Given the description of an element on the screen output the (x, y) to click on. 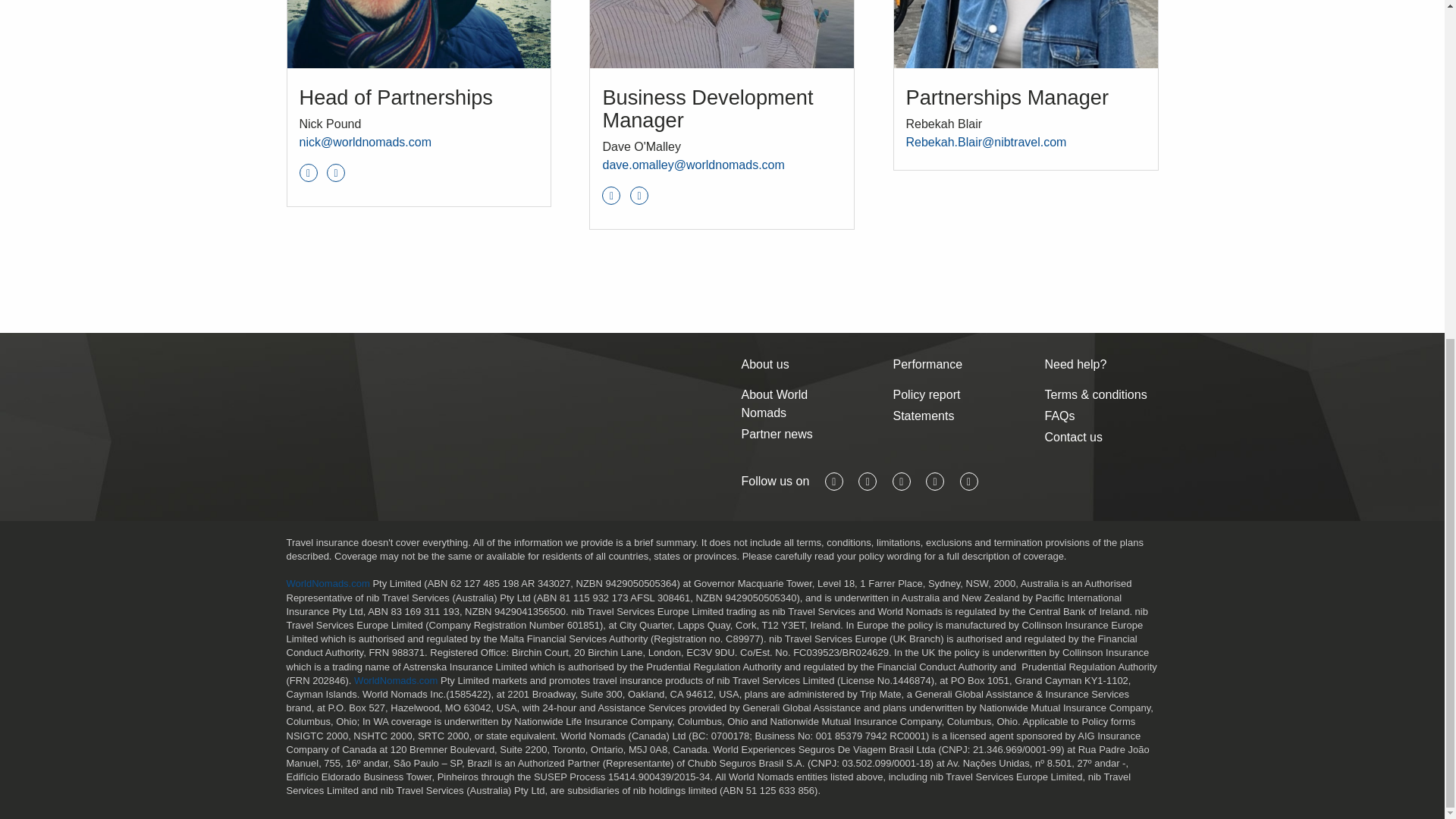
Email Rebekah (986, 141)
Find on Linked In (611, 195)
Follow on Twitter (335, 172)
About World Nomads (798, 403)
Statements (950, 416)
Follow on Twitter (638, 195)
Email Dave (693, 164)
Find on Linked In (307, 172)
Contact us (1101, 437)
Policy report (950, 394)
